Given the description of an element on the screen output the (x, y) to click on. 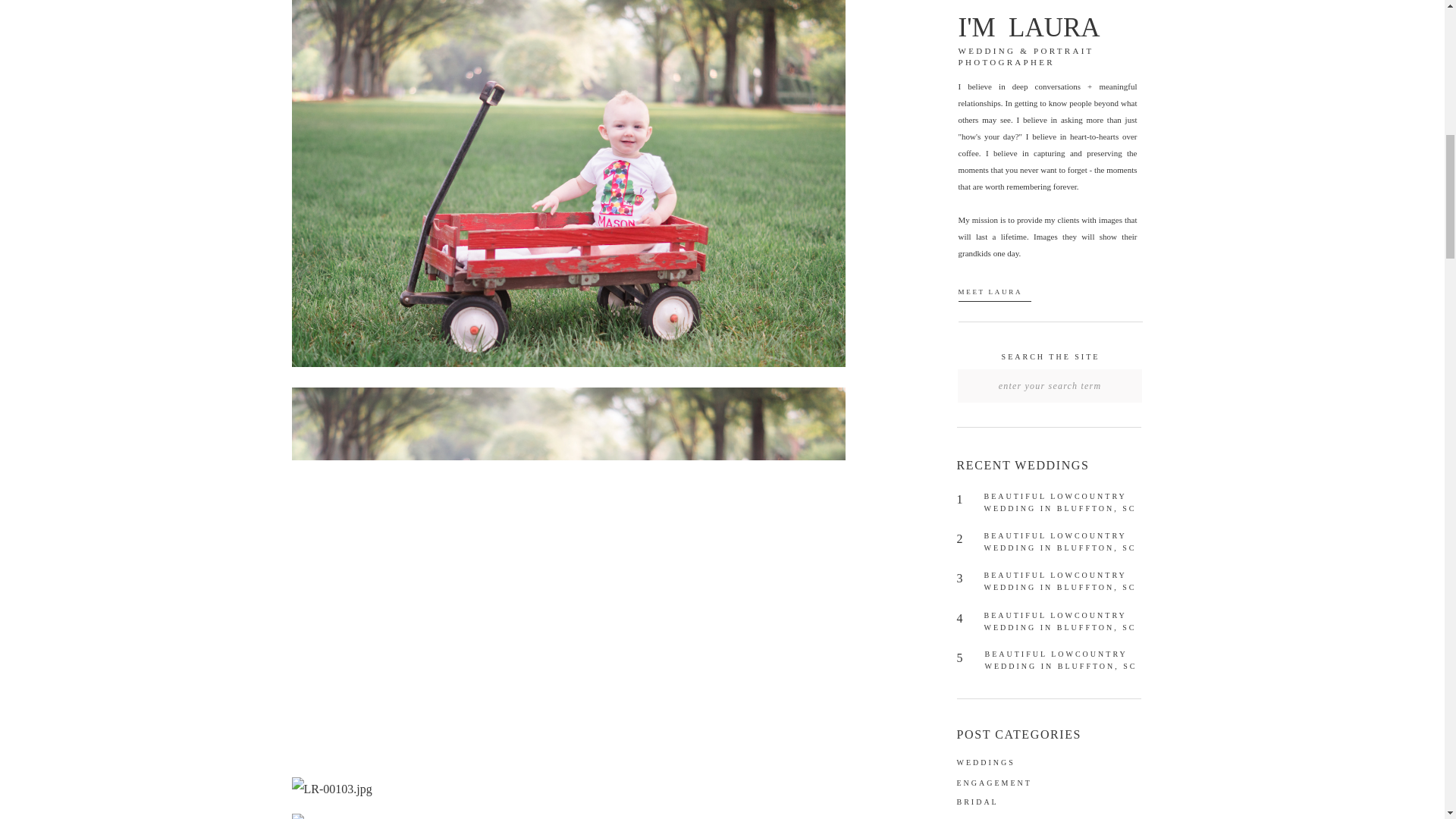
5 (966, 660)
WEDDINGS (1012, 762)
ENGAGEMENT (1012, 784)
3 (966, 580)
PERSONAL LIFE (1012, 817)
1 (966, 501)
BEAUTIFUL LOWCOUNTRY WEDDING IN BLUFFTON, SC (1060, 541)
BEAUTIFUL LOWCOUNTRY WEDDING IN BLUFFTON, SC (1060, 660)
BRIDAL (1012, 802)
BEAUTIFUL LOWCOUNTRY WEDDING IN BLUFFTON, SC (1060, 620)
